Given the description of an element on the screen output the (x, y) to click on. 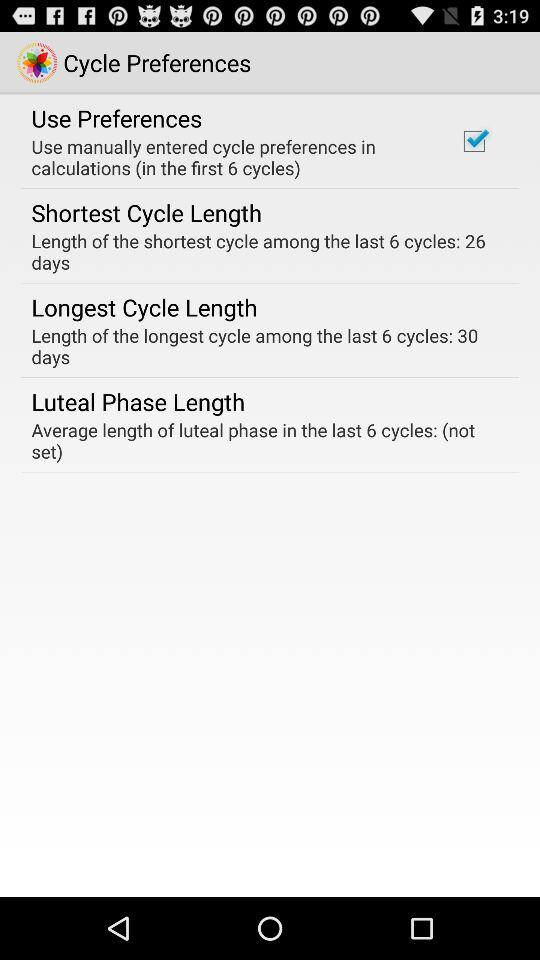
click the icon to the right of use manually entered icon (474, 141)
